Given the description of an element on the screen output the (x, y) to click on. 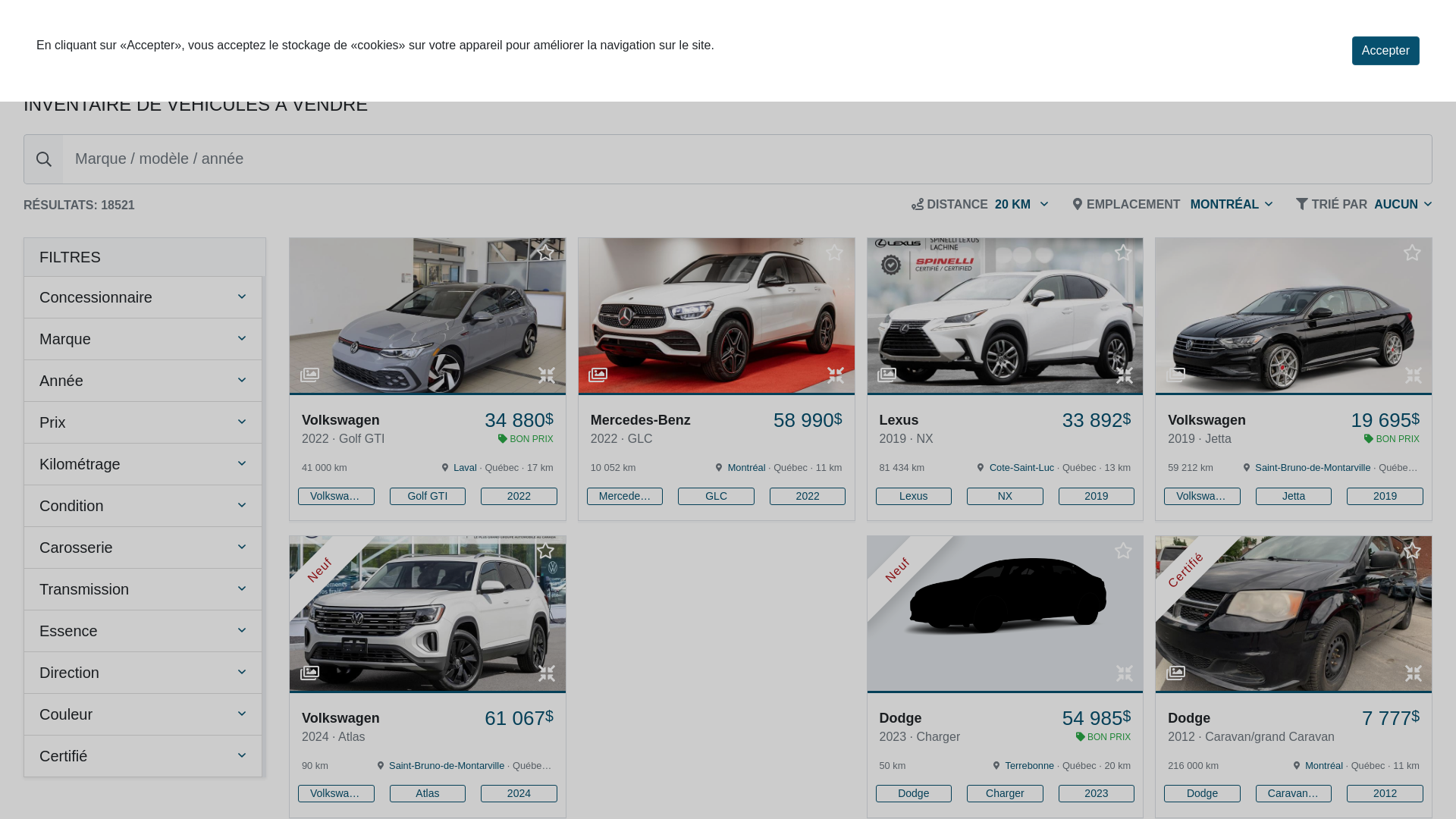
Laval Element type: text (464, 467)
Volkswagen Element type: text (336, 496)
Accepter Element type: text (1385, 50)
Caravan/grand Caravan Element type: text (1293, 793)
Volkswagen Element type: text (1202, 496)
Golf GTI Element type: text (427, 496)
Charger Element type: text (1004, 793)
Cote-Saint-Luc Element type: text (1021, 467)
2023 Element type: text (1096, 793)
Volkswagen Element type: text (336, 793)
GLC Element type: text (715, 496)
2022 Element type: text (518, 496)
2012 Element type: text (1384, 793)
Saint-Bruno-de-Montarville Element type: text (446, 765)
Mercedes-Benz Element type: text (624, 496)
Dodge Element type: text (1202, 793)
Lexus Element type: text (913, 496)
Dodge Element type: text (913, 793)
2022 Element type: text (807, 496)
2024 Element type: text (518, 793)
2019 Element type: text (1384, 496)
2019 Element type: text (1096, 496)
NX Element type: text (1004, 496)
AutoExpert Element type: hover (100, 42)
Saint-Bruno-de-Montarville Element type: text (1312, 467)
Atlas Element type: text (427, 793)
Terrebonne Element type: text (1029, 765)
Jetta Element type: text (1293, 496)
